Given the description of an element on the screen output the (x, y) to click on. 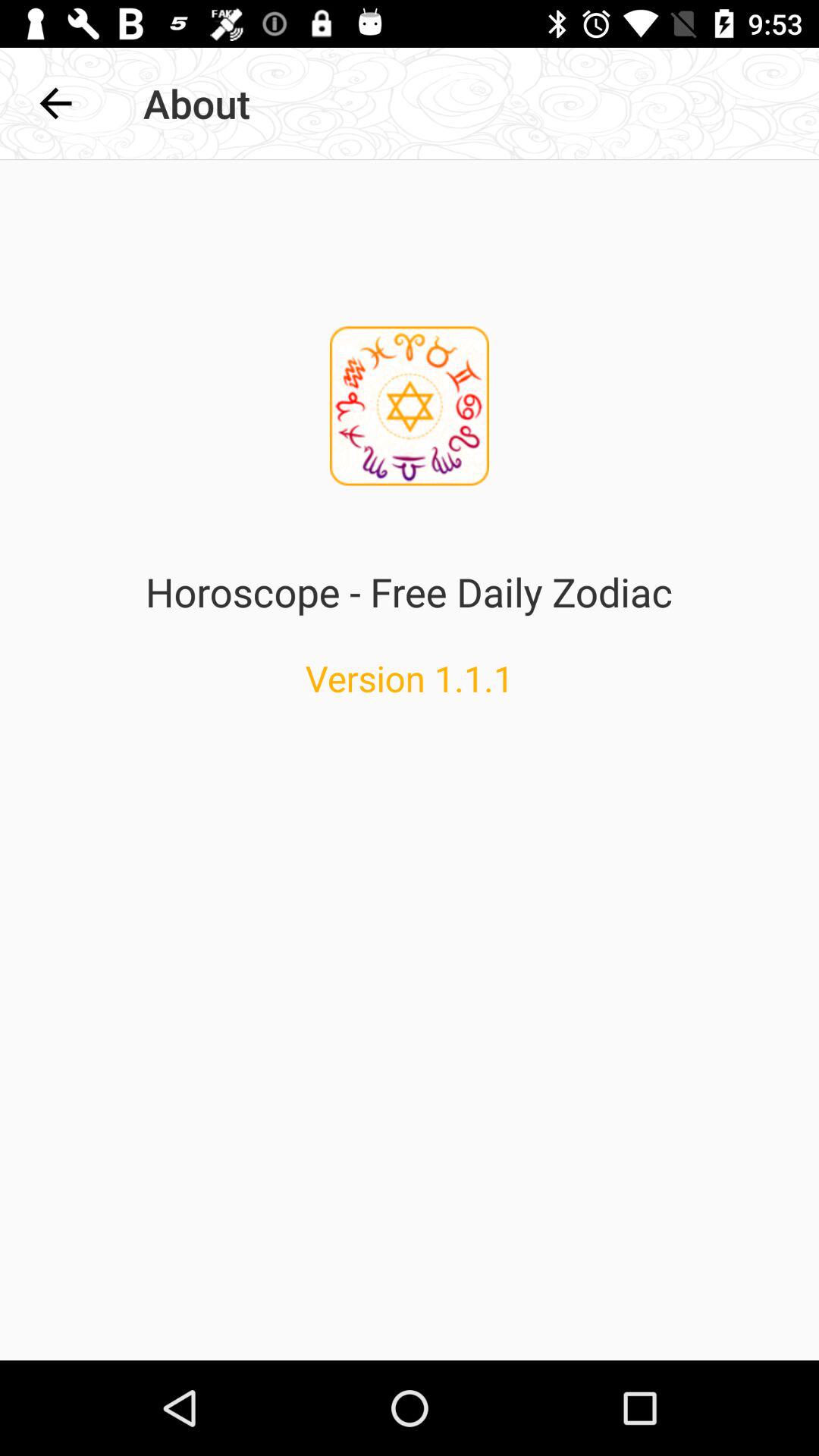
choose icon next to the about (55, 103)
